Given the description of an element on the screen output the (x, y) to click on. 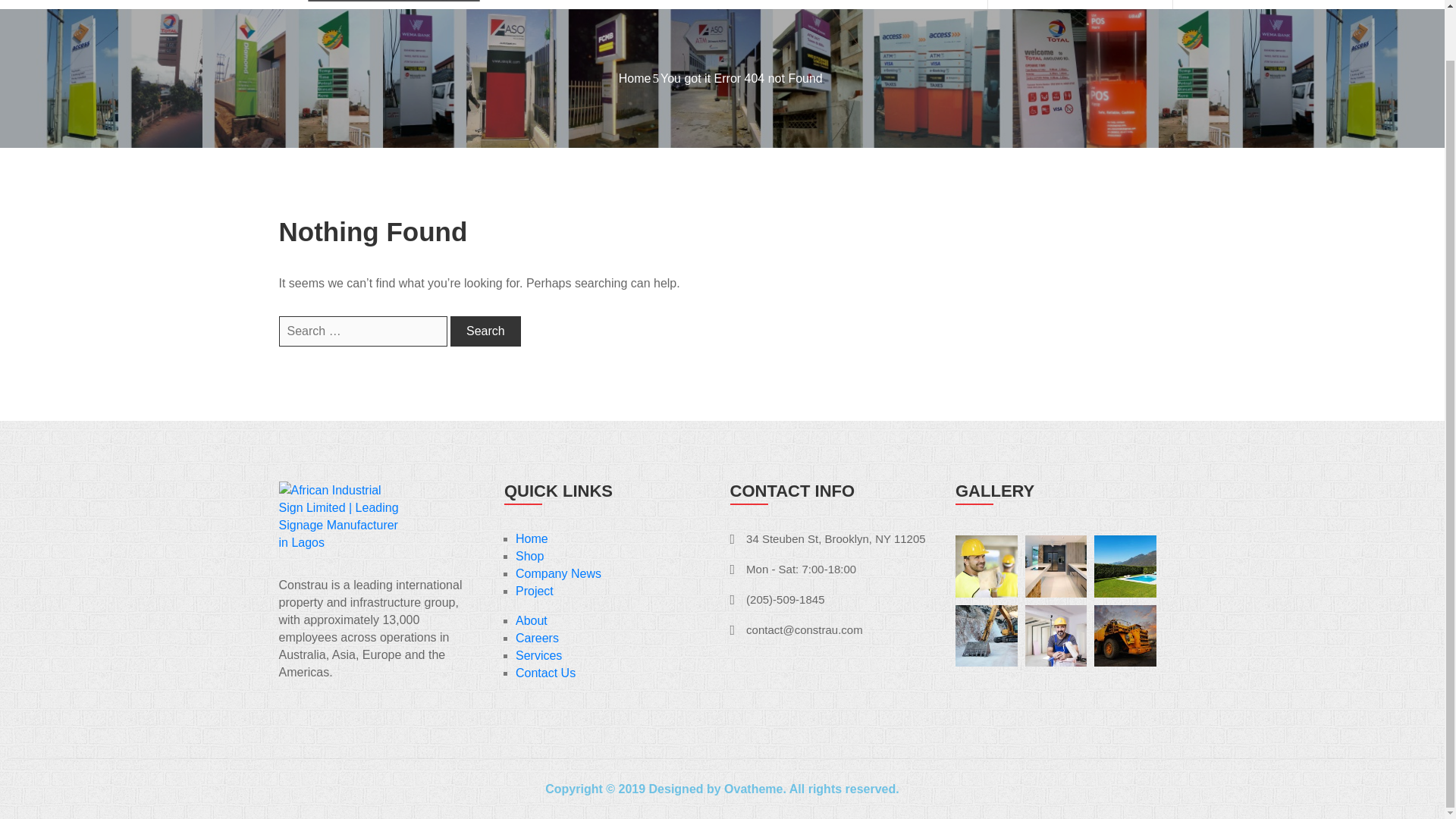
About (531, 620)
Careers (537, 637)
Services (538, 655)
Search (485, 331)
Search (485, 331)
CONTACT (931, 4)
Services (747, 4)
Search (485, 331)
Home (580, 4)
ABOUT (658, 4)
